Given the description of an element on the screen output the (x, y) to click on. 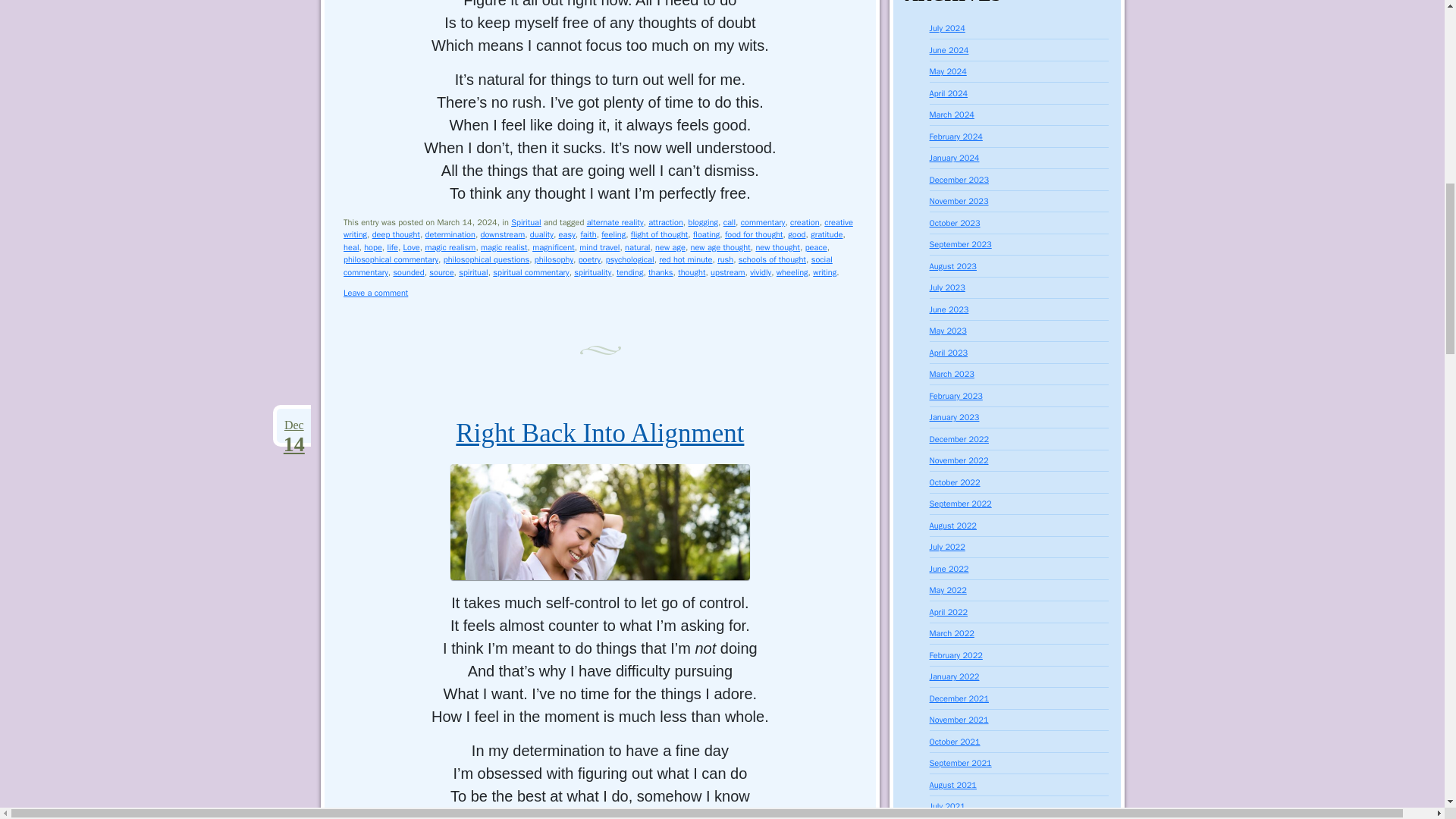
deep thought (396, 234)
December 14, 2023 (293, 425)
creation (804, 222)
natural (636, 246)
magnificent (553, 246)
hope (372, 246)
alternate reality (614, 222)
heal (350, 246)
determination (450, 234)
Love (411, 246)
life (392, 246)
commentary (763, 222)
faith (587, 234)
mind travel (599, 246)
new thought (777, 246)
